Given the description of an element on the screen output the (x, y) to click on. 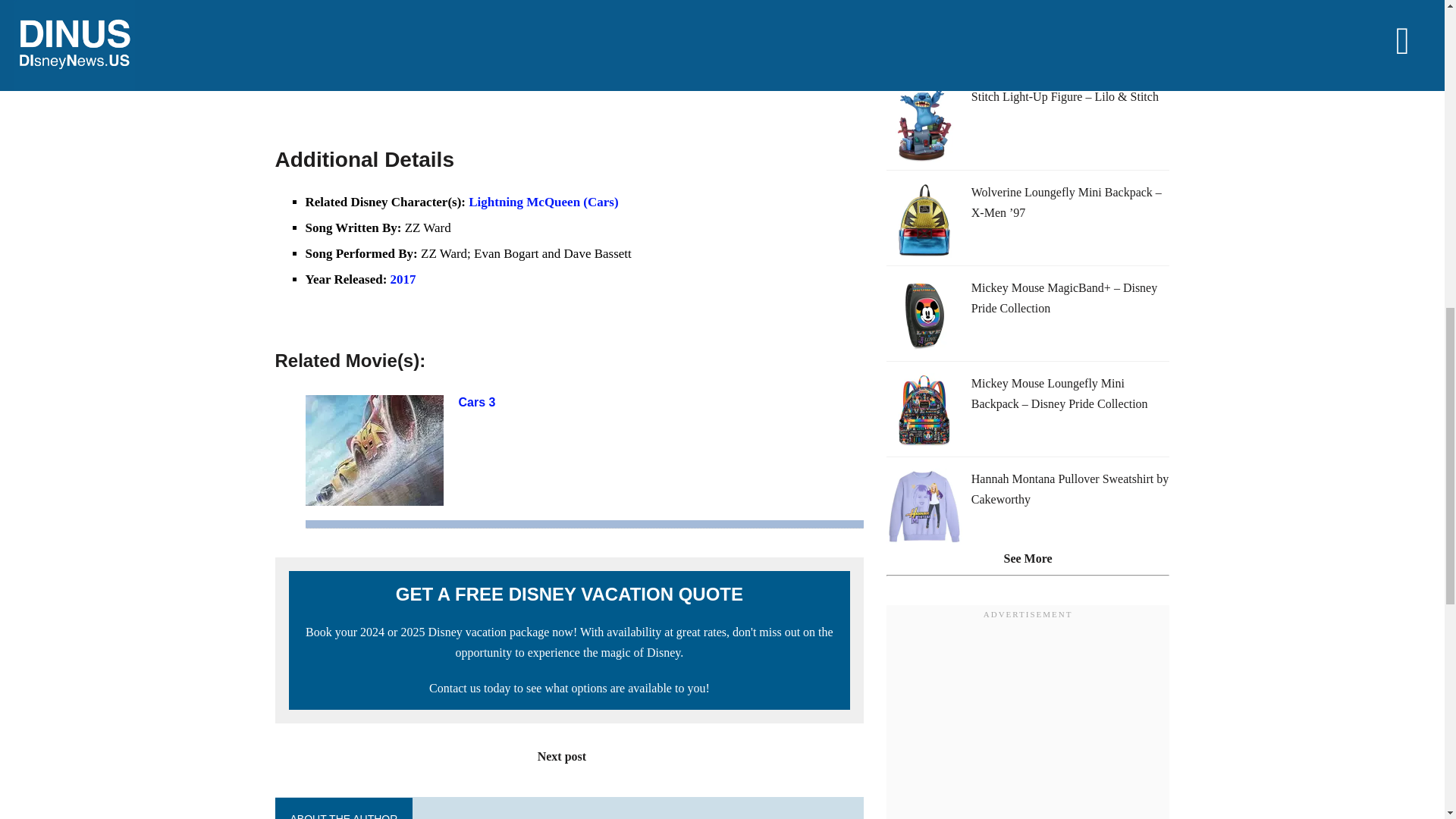
New in the Mall (947, 49)
Cars 3 (373, 495)
NEW IN THE MALL (947, 49)
Next post (569, 756)
Hannah Montana Pullover Sweatshirt by Cakeworthy (1070, 489)
See More (1028, 558)
Cars 3 (476, 401)
Contact us today to see what options are available to you! (569, 687)
Cars 3 (476, 401)
GET A FREE DISNEY VACATION QUOTE (569, 593)
2017 (403, 278)
